Given the description of an element on the screen output the (x, y) to click on. 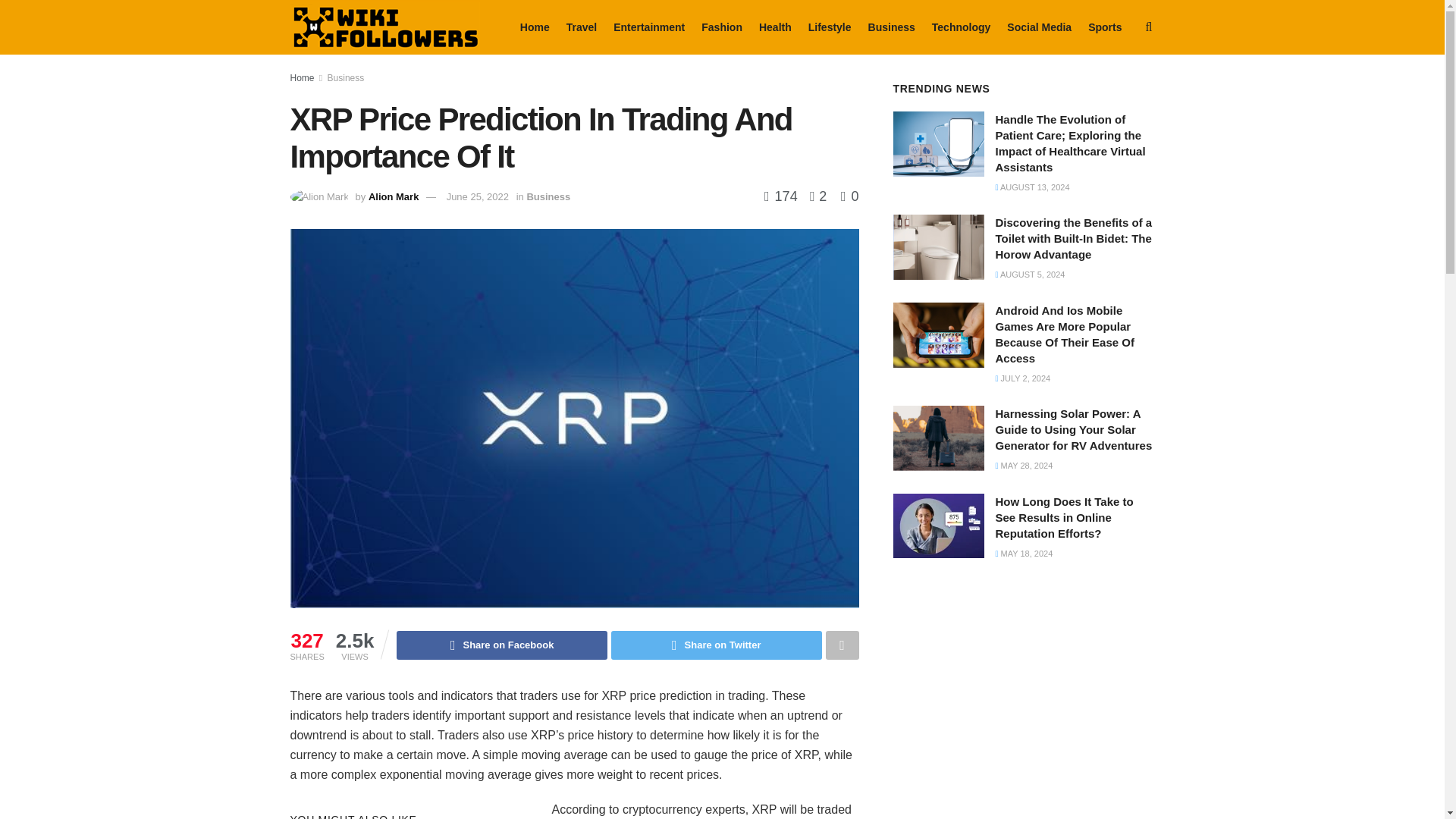
Business (891, 26)
Travel (581, 26)
Share on Facebook (501, 645)
Sports (1104, 26)
Lifestyle (829, 26)
Fashion (721, 26)
Home (301, 77)
Social Media (1039, 26)
Home (534, 26)
Business (346, 77)
